Given the description of an element on the screen output the (x, y) to click on. 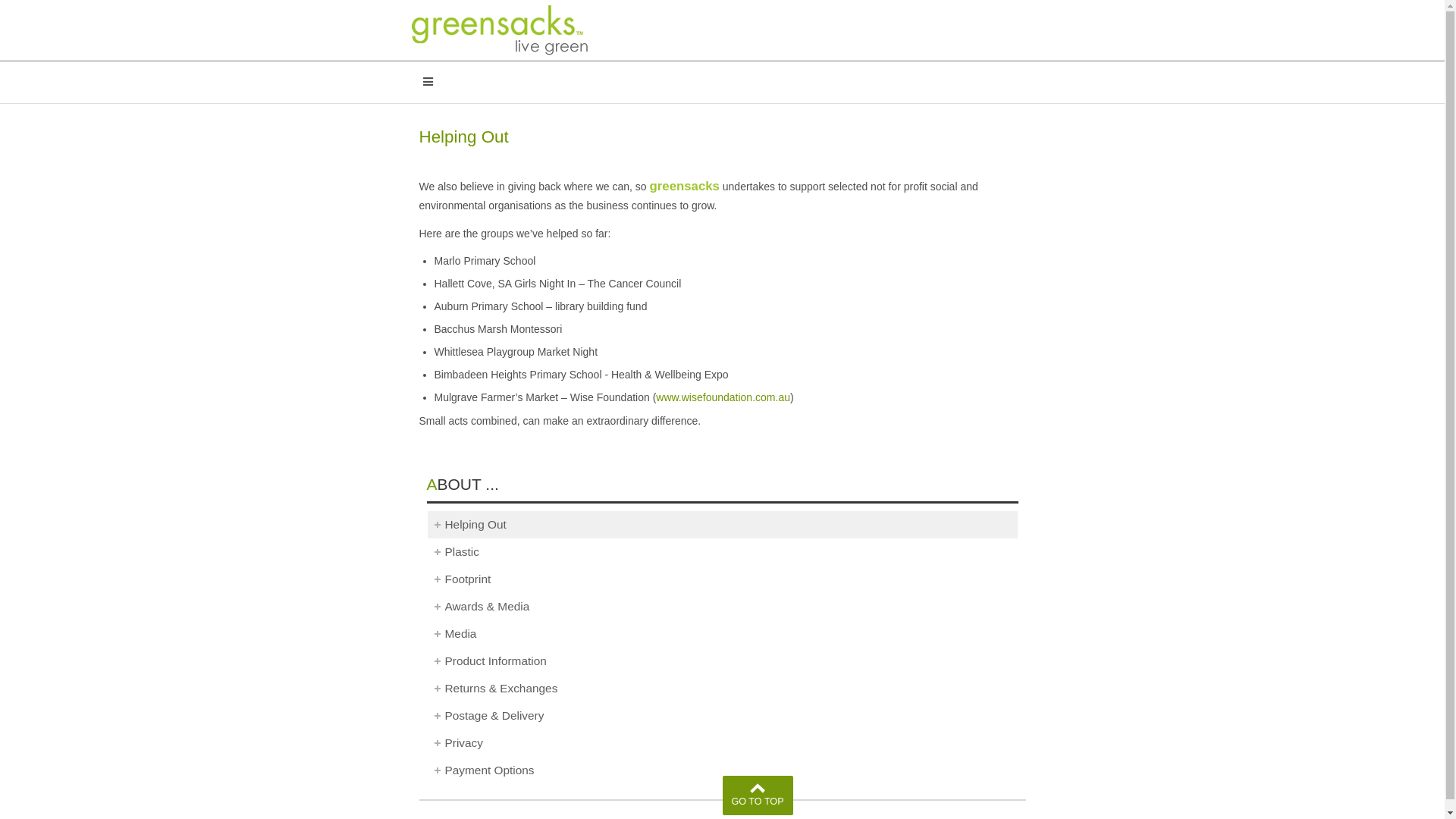
Product Information Element type: text (722, 660)
Returns & Exchanges Element type: text (722, 688)
Footprint Element type: text (722, 579)
Payment Options Element type: text (722, 770)
GO TO TOP Element type: text (756, 795)
Plastic Element type: text (722, 551)
www.wisefoundation.com.au Element type: text (722, 397)
Postage & Delivery Element type: text (722, 715)
Awards & Media Element type: text (722, 606)
Helping Out Element type: text (463, 136)
Helping Out Element type: text (722, 524)
Privacy Element type: text (722, 742)
Media Element type: text (722, 633)
